Given the description of an element on the screen output the (x, y) to click on. 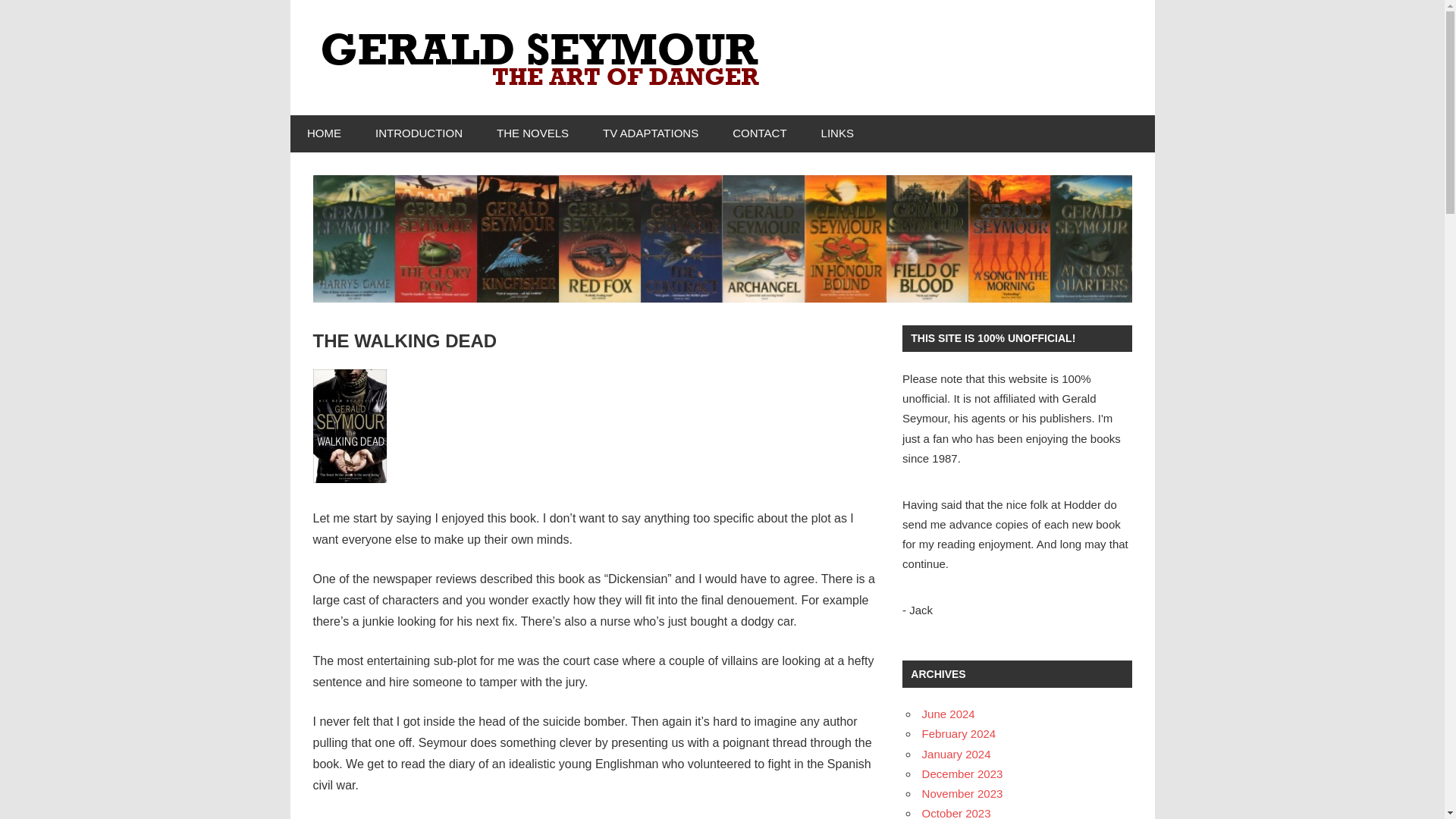
HOME (323, 133)
November 2023 (962, 793)
February 2024 (958, 733)
CONTACT (759, 133)
December 2023 (962, 773)
TV ADAPTATIONS (651, 133)
October 2023 (956, 812)
INTRODUCTION (418, 133)
June 2024 (948, 713)
THE NOVELS (532, 133)
